Given the description of an element on the screen output the (x, y) to click on. 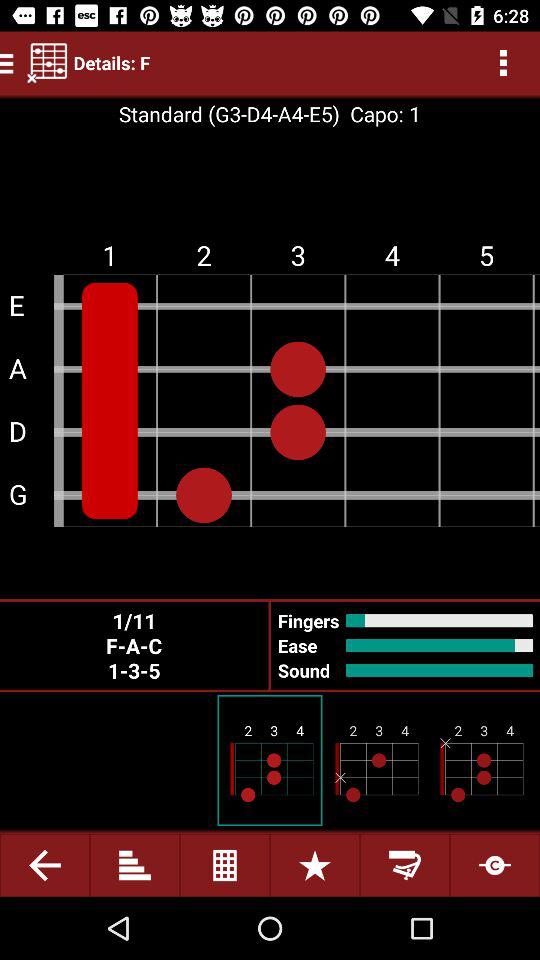
swipe until the standard g3 d4 item (228, 113)
